Given the description of an element on the screen output the (x, y) to click on. 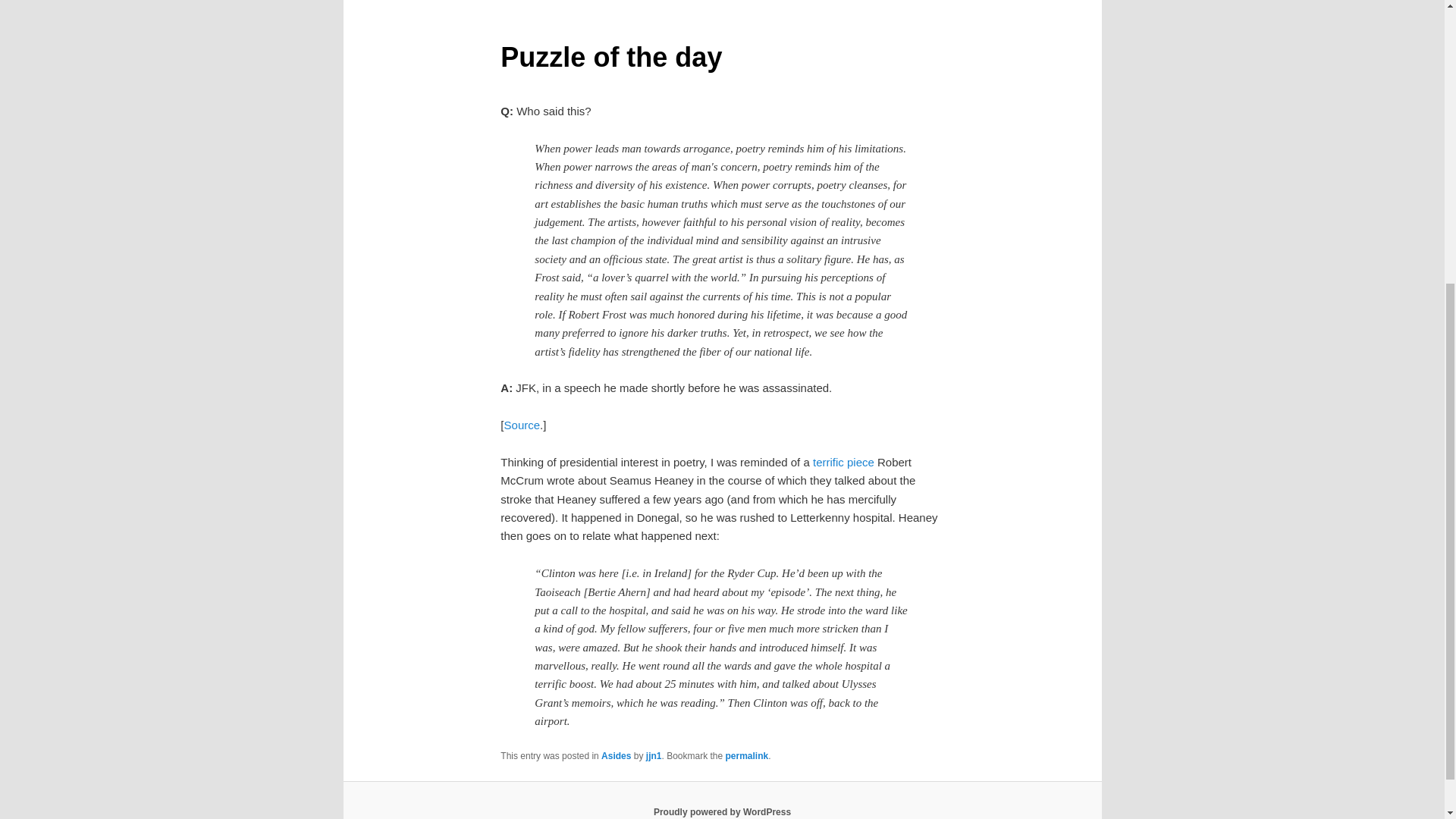
Source (521, 424)
Semantic Personal Publishing Platform (721, 811)
jjn1 (654, 756)
Proudly powered by WordPress (721, 811)
Asides (615, 756)
terrific piece (843, 461)
permalink (746, 756)
